Given the description of an element on the screen output the (x, y) to click on. 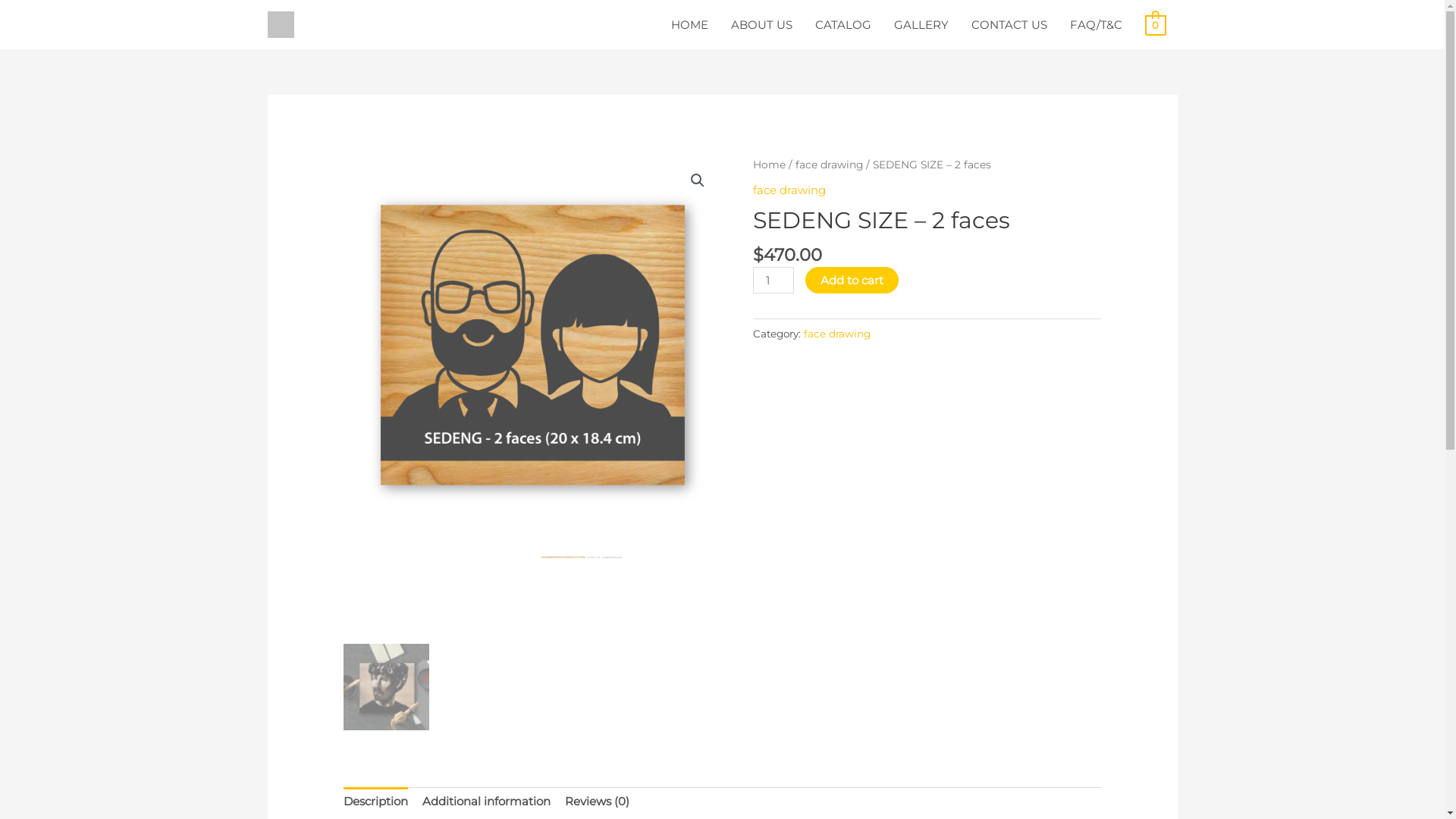
face drawing Element type: text (788, 189)
Reviews (0) Element type: text (596, 801)
face drawing Element type: text (836, 333)
Home Element type: text (768, 164)
CONTACT US Element type: text (1009, 24)
sedeng-size Element type: hover (911, 330)
ABOUT US Element type: text (761, 24)
Add to cart Element type: text (851, 279)
Description Element type: text (375, 801)
0 Element type: text (1155, 23)
CATALOG Element type: text (842, 24)
SEDENG-2 Element type: hover (532, 344)
HOME Element type: text (689, 24)
FAQ/T&C Element type: text (1095, 24)
face drawing Element type: text (828, 164)
Additional information Element type: text (486, 801)
GALLERY Element type: text (921, 24)
